Given the description of an element on the screen output the (x, y) to click on. 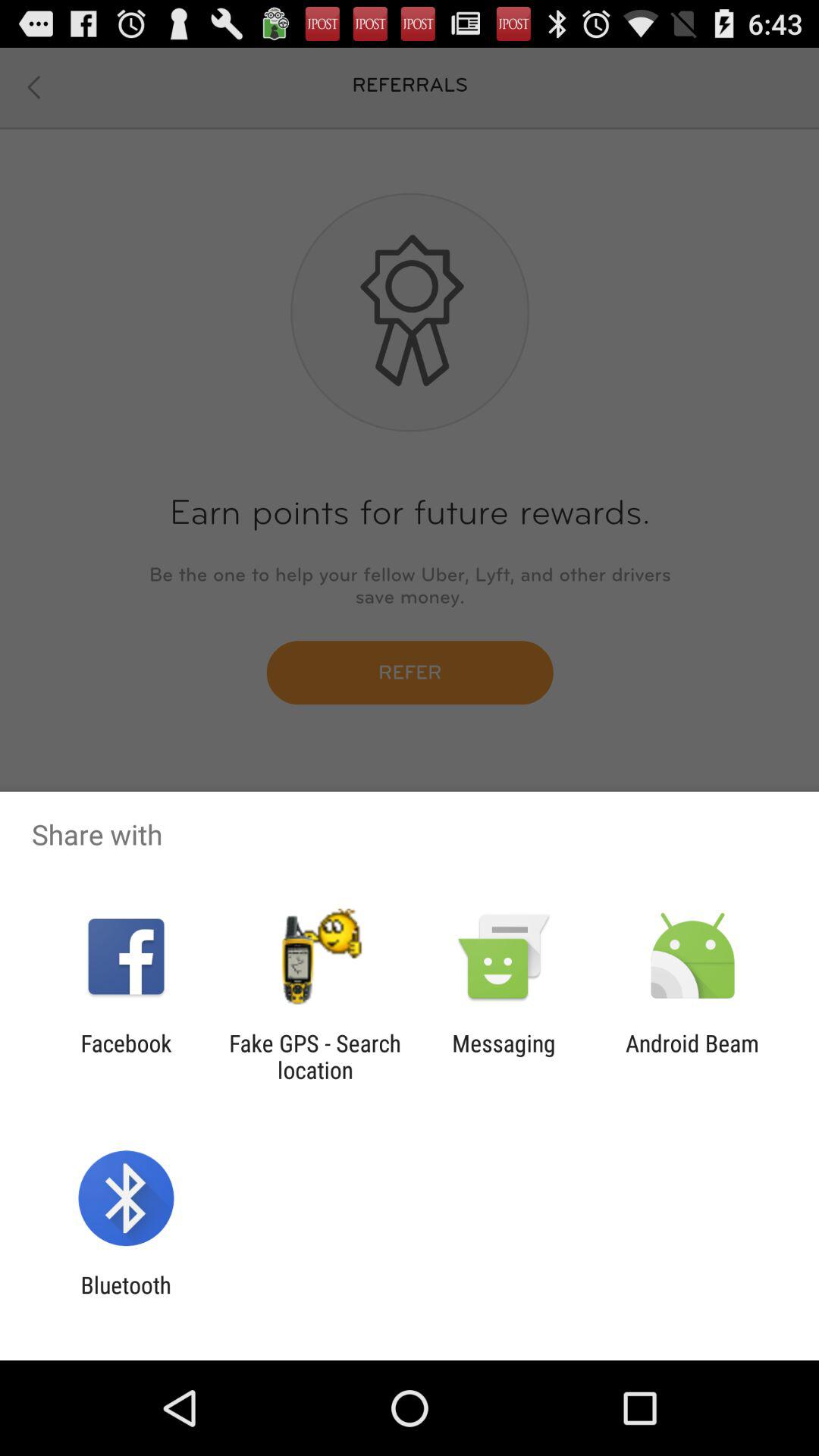
launch app next to the android beam app (503, 1056)
